Given the description of an element on the screen output the (x, y) to click on. 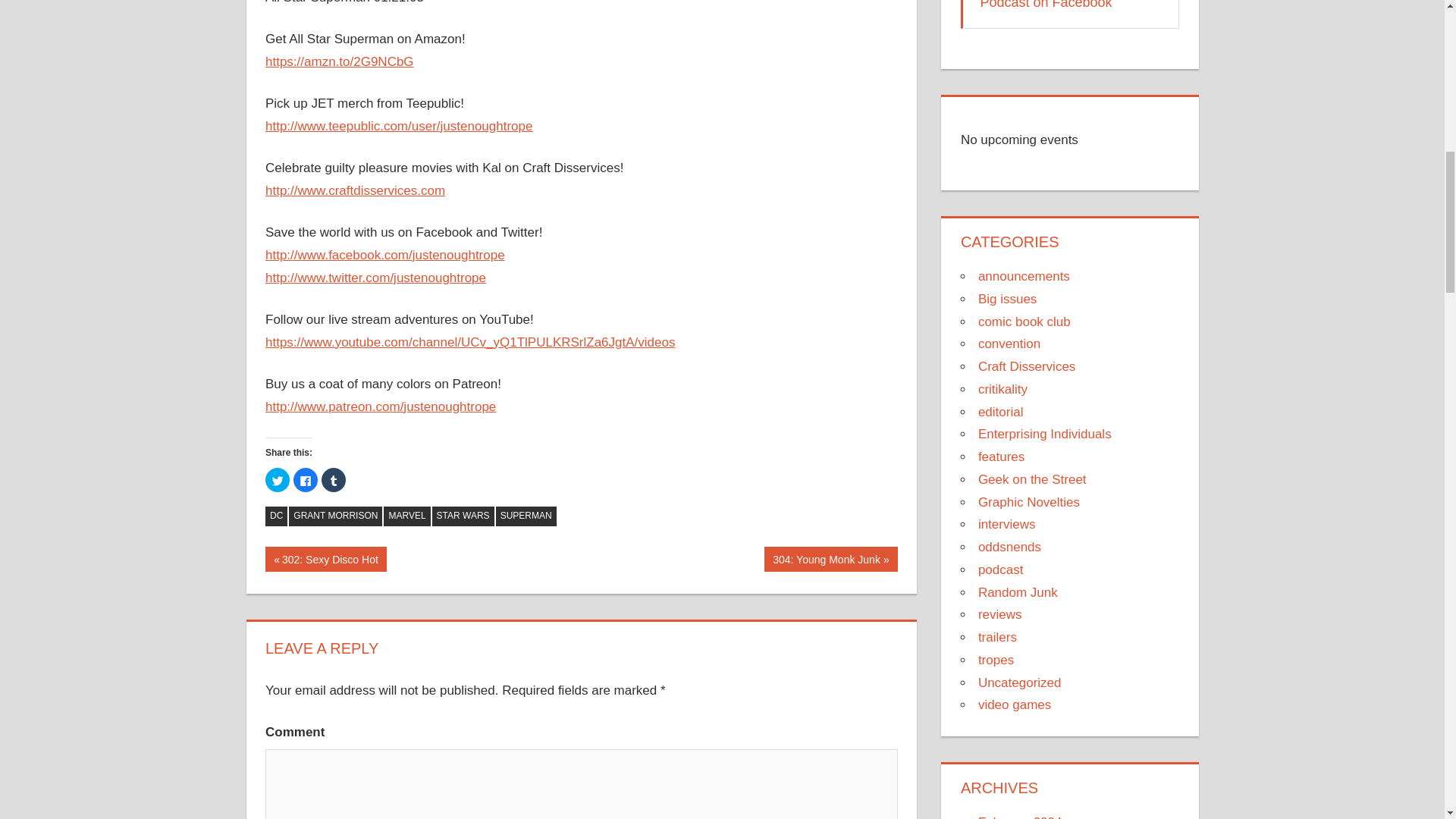
DC (275, 516)
MARVEL (831, 559)
SUPERMAN (406, 516)
Click to share on Tumblr (526, 516)
STAR WARS (333, 479)
Click to share on Facebook (463, 516)
announcements (305, 479)
The Just Enough Trope Podcast on Facebook (1024, 276)
Click to share on Twitter (1050, 4)
